Given the description of an element on the screen output the (x, y) to click on. 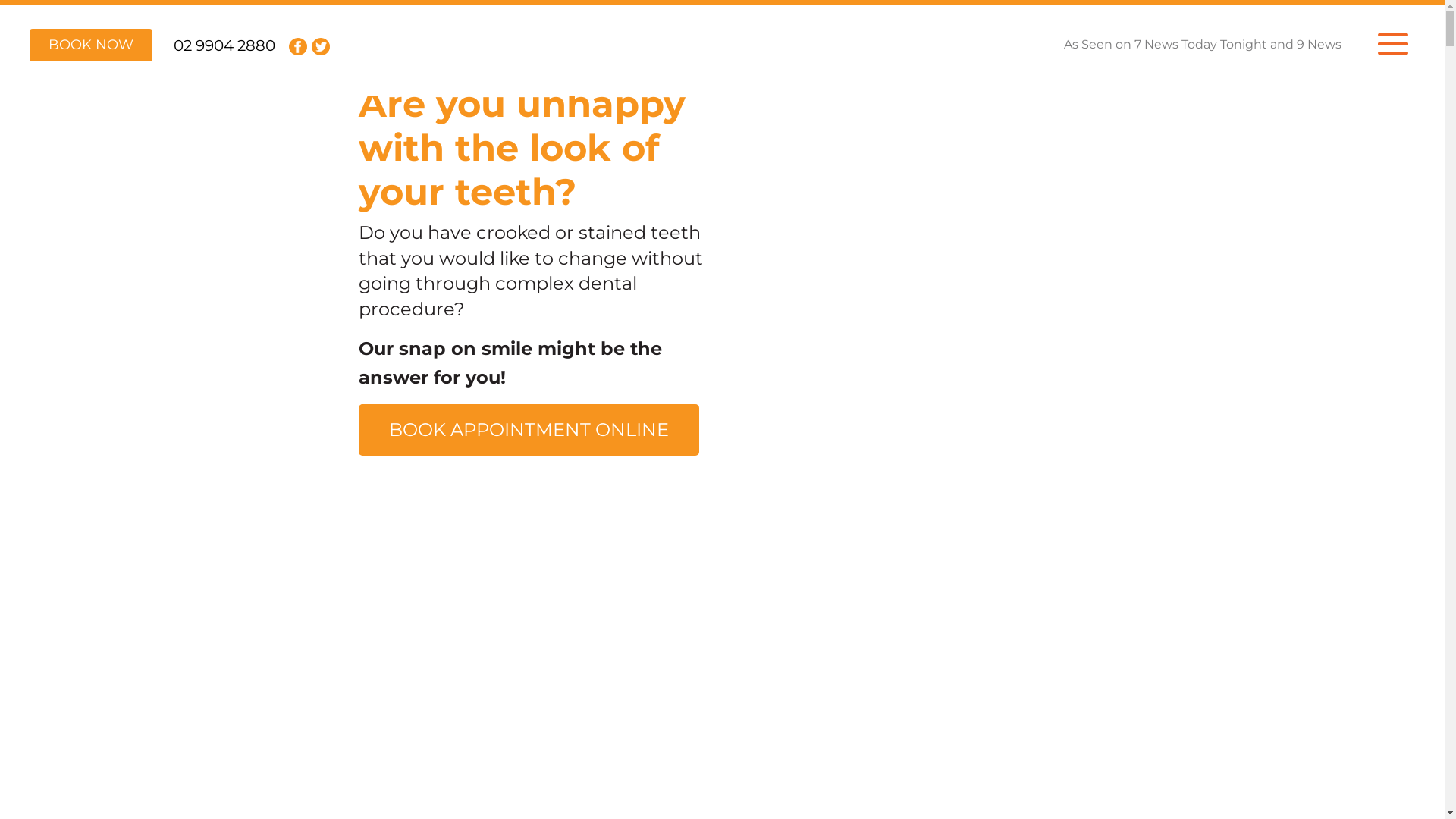
BOOK APPOINTMENT ONLINE Element type: text (527, 429)
02 9904 2880 Element type: text (224, 45)
BOOK NOW Element type: text (90, 44)
